Given the description of an element on the screen output the (x, y) to click on. 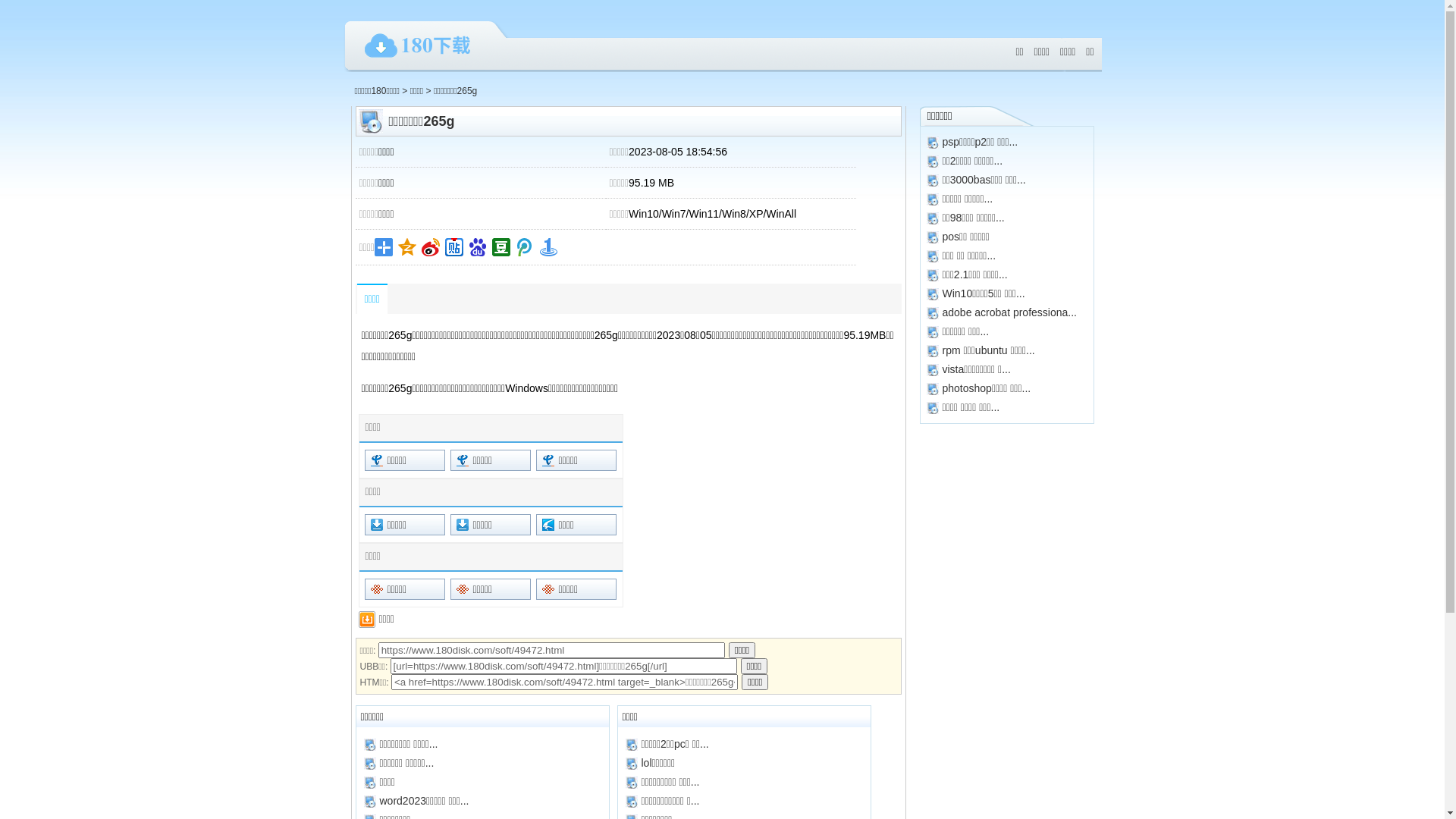
https://www.180disk.com/soft/49472.html Element type: text (551, 650)
adobe acrobat professiona... Element type: text (1008, 312)
